Given the description of an element on the screen output the (x, y) to click on. 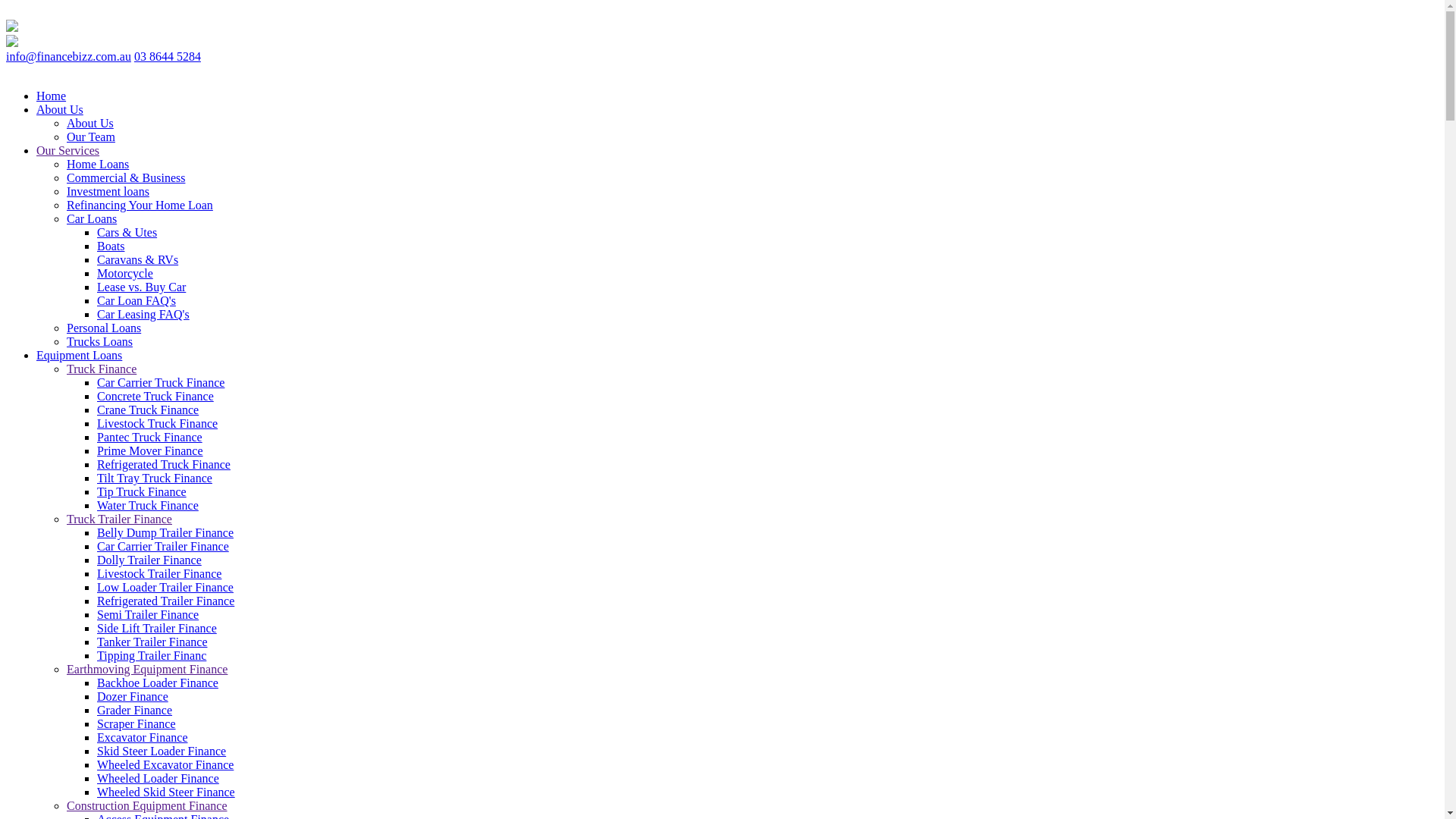
Boats Element type: text (110, 245)
Low Loader Trailer Finance Element type: text (165, 586)
Home Loans Element type: text (97, 163)
Pantec Truck Finance Element type: text (149, 436)
Home Element type: text (50, 95)
Crane Truck Finance Element type: text (147, 409)
Semi Trailer Finance Element type: text (147, 614)
Car Carrier Truck Finance Element type: text (160, 382)
Livestock Truck Finance Element type: text (157, 423)
Commercial & Business Element type: text (125, 177)
Truck Finance Element type: text (101, 368)
Investment loans Element type: text (107, 191)
Grader Finance Element type: text (134, 709)
Earthmoving Equipment Finance Element type: text (146, 668)
Wheeled Skid Steer Finance Element type: text (166, 791)
Tanker Trailer Finance Element type: text (152, 641)
Concrete Truck Finance Element type: text (155, 395)
Construction Equipment Finance Element type: text (146, 805)
Trucks Loans Element type: text (99, 341)
Motorcycle Element type: text (125, 272)
Tip Truck Finance Element type: text (141, 491)
Wheeled Loader Finance Element type: text (158, 777)
Equipment Loans Element type: text (79, 354)
Dolly Trailer Finance Element type: text (149, 559)
Excavator Finance Element type: text (142, 737)
Lease vs. Buy Car Element type: text (141, 286)
03 8644 5284 Element type: text (167, 56)
Refrigerated Trailer Finance Element type: text (165, 600)
Our Services Element type: text (67, 150)
Water Truck Finance Element type: text (147, 504)
Skid Steer Loader Finance Element type: text (161, 750)
Dozer Finance Element type: text (132, 696)
Car Loan FAQ's Element type: text (136, 300)
Scraper Finance Element type: text (136, 723)
Tipping Trailer Financ Element type: text (151, 655)
Personal Loans Element type: text (103, 327)
Belly Dump Trailer Finance Element type: text (165, 532)
Backhoe Loader Finance Element type: text (157, 682)
Prime Mover Finance Element type: text (150, 450)
About Us Element type: text (89, 122)
Wheeled Excavator Finance Element type: text (165, 764)
Car Carrier Trailer Finance Element type: text (163, 545)
Livestock Trailer Finance Element type: text (159, 573)
Our Team Element type: text (90, 136)
Car Loans Element type: text (91, 218)
Refinancing Your Home Loan Element type: text (139, 204)
info@financebizz.com.au Element type: text (68, 56)
Side Lift Trailer Finance Element type: text (156, 627)
Truck Trailer Finance Element type: text (119, 518)
Tilt Tray Truck Finance Element type: text (154, 477)
Cars & Utes Element type: text (126, 231)
Car Leasing FAQ's Element type: text (143, 313)
Caravans & RVs Element type: text (137, 259)
Refrigerated Truck Finance Element type: text (163, 464)
About Us Element type: text (59, 109)
